Given the description of an element on the screen output the (x, y) to click on. 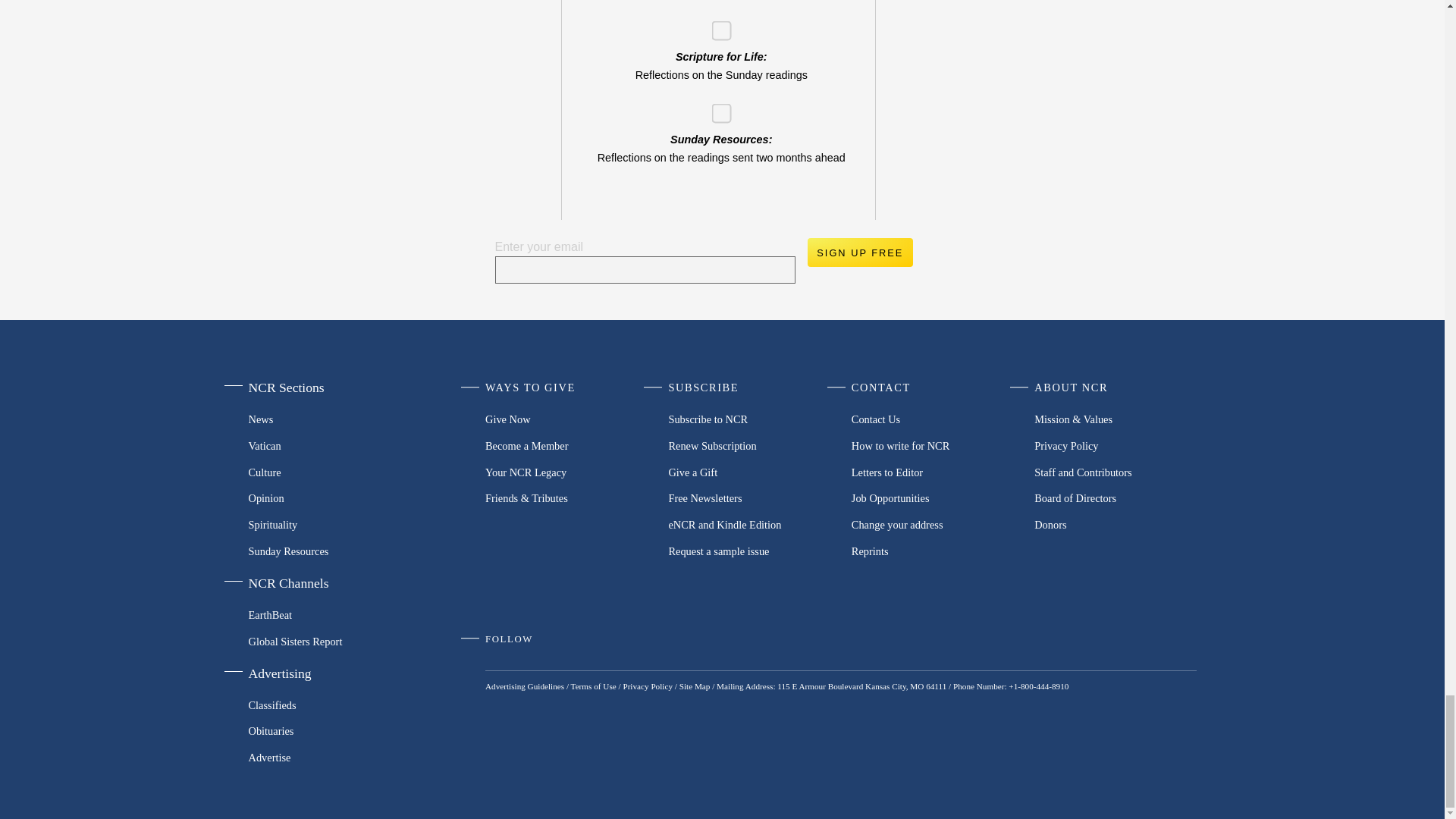
Sign up free (859, 252)
Advertise with NCR (324, 757)
Change your address (932, 524)
c25324053e (715, 26)
dfa4c56aff (715, 108)
Request a reprint of NCR content (932, 550)
Request a sample issue of NCR (748, 550)
Donors (1114, 524)
How to write for NCR (932, 446)
